Given the description of an element on the screen output the (x, y) to click on. 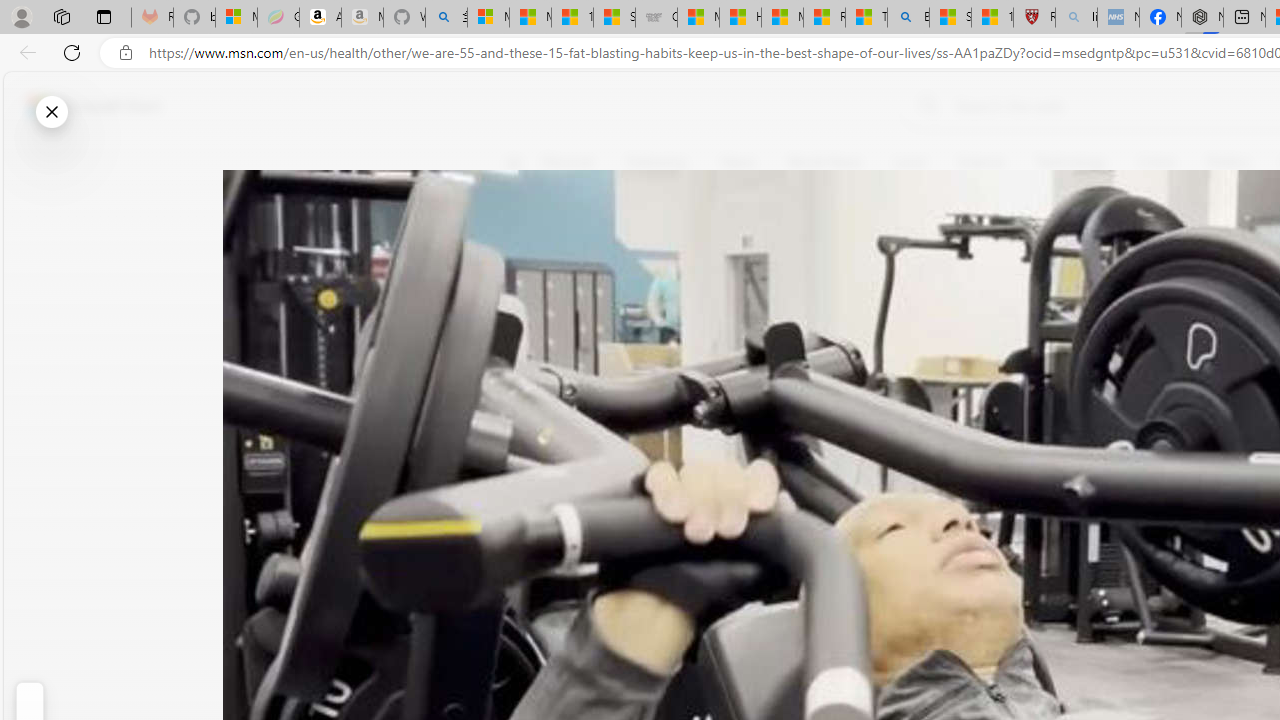
Bing (908, 17)
